Given the description of an element on the screen output the (x, y) to click on. 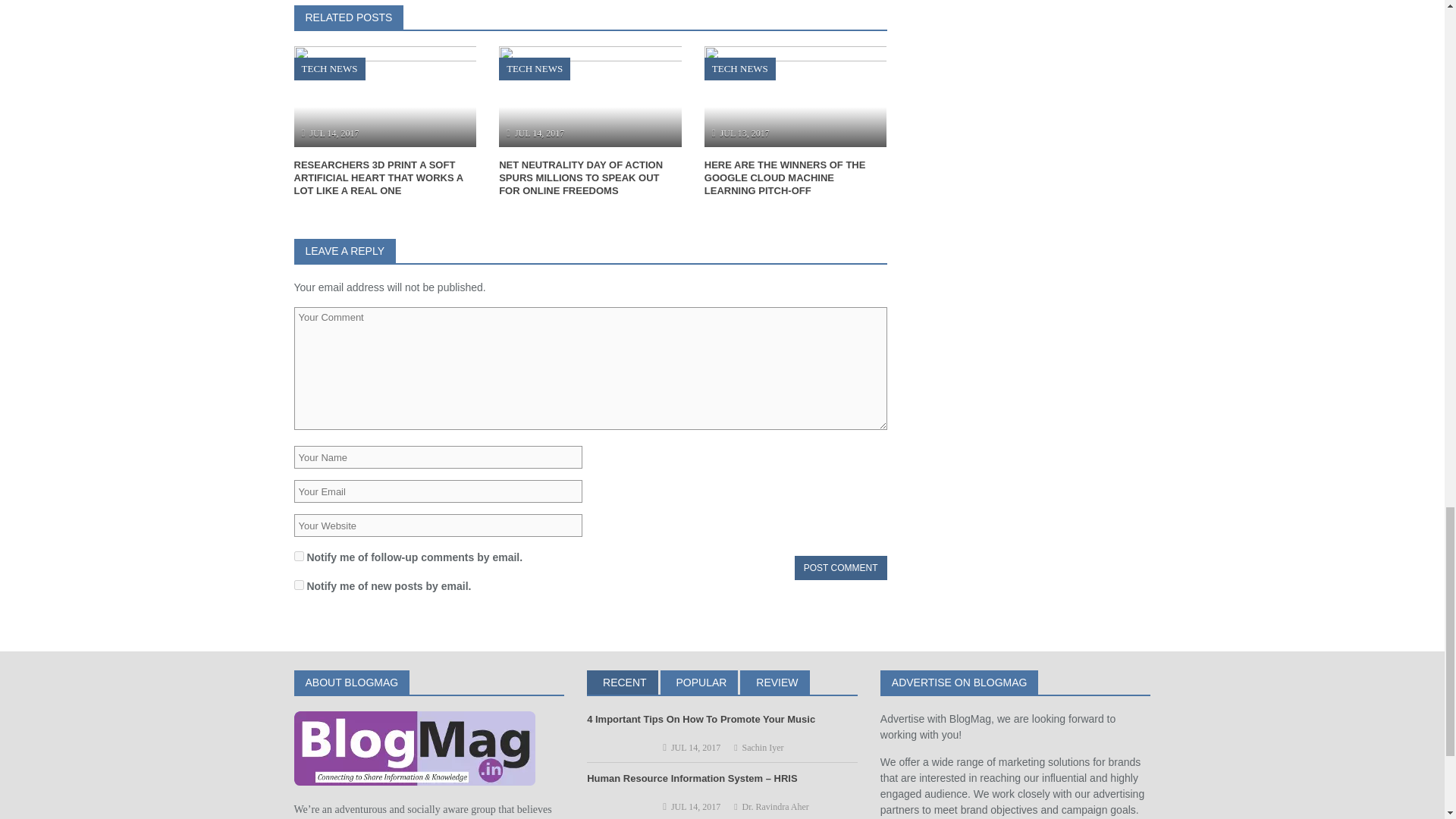
Friday, July 14, 2017, 6:11 am (333, 132)
Friday, July 14, 2017, 7:36 am (695, 747)
TECH NEWS (534, 68)
Post Comment (840, 567)
TECH NEWS (329, 68)
subscribe (299, 584)
Post Comment (840, 567)
subscribe (299, 556)
Friday, July 14, 2017, 3:05 am (539, 132)
TECH NEWS (740, 68)
